Given the description of an element on the screen output the (x, y) to click on. 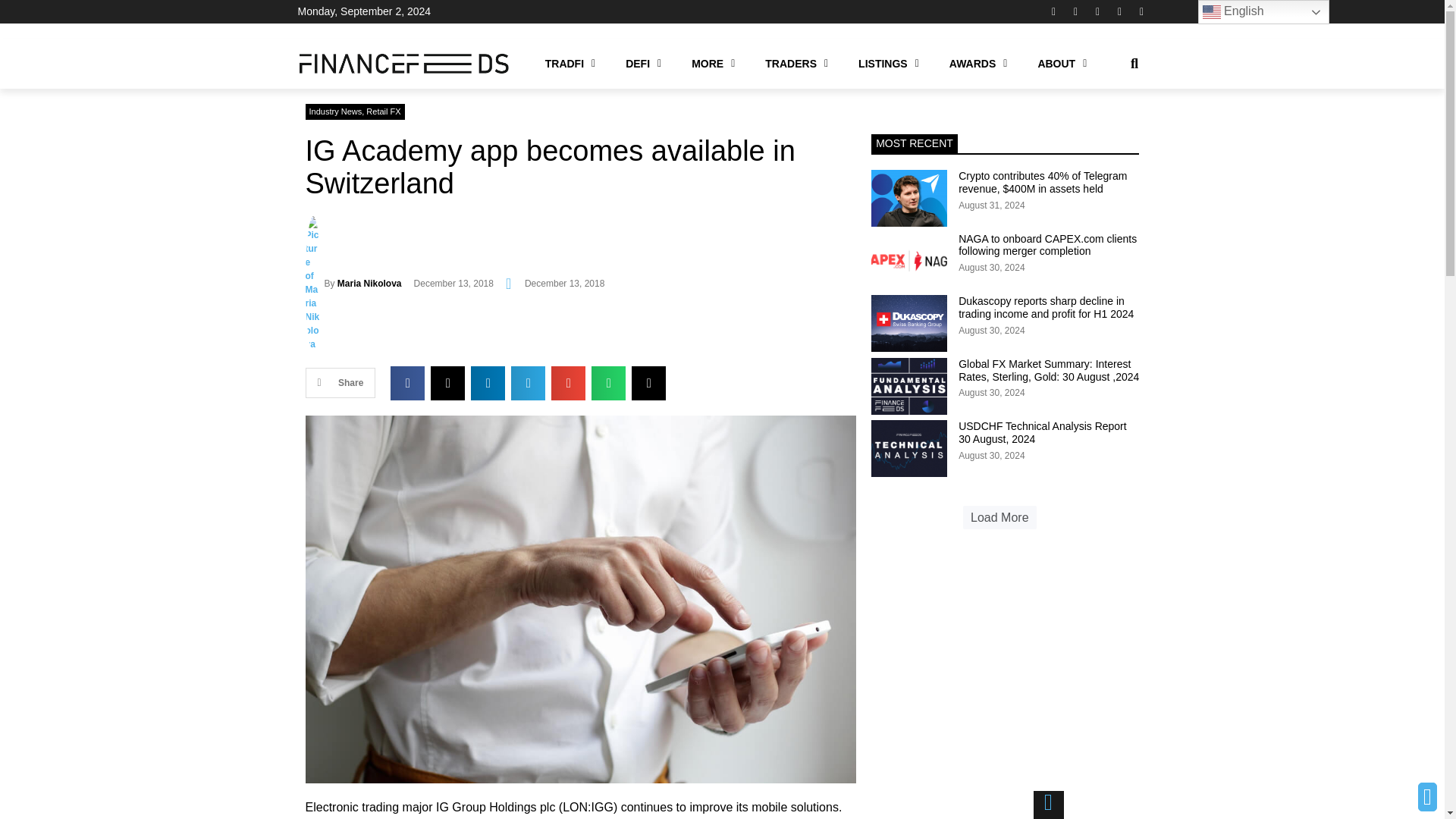
ABOUT (1062, 63)
DEFI (643, 63)
TRADFI (569, 63)
TRADERS (796, 63)
MORE (713, 63)
AWARDS (978, 63)
LISTINGS (888, 63)
